Given the description of an element on the screen output the (x, y) to click on. 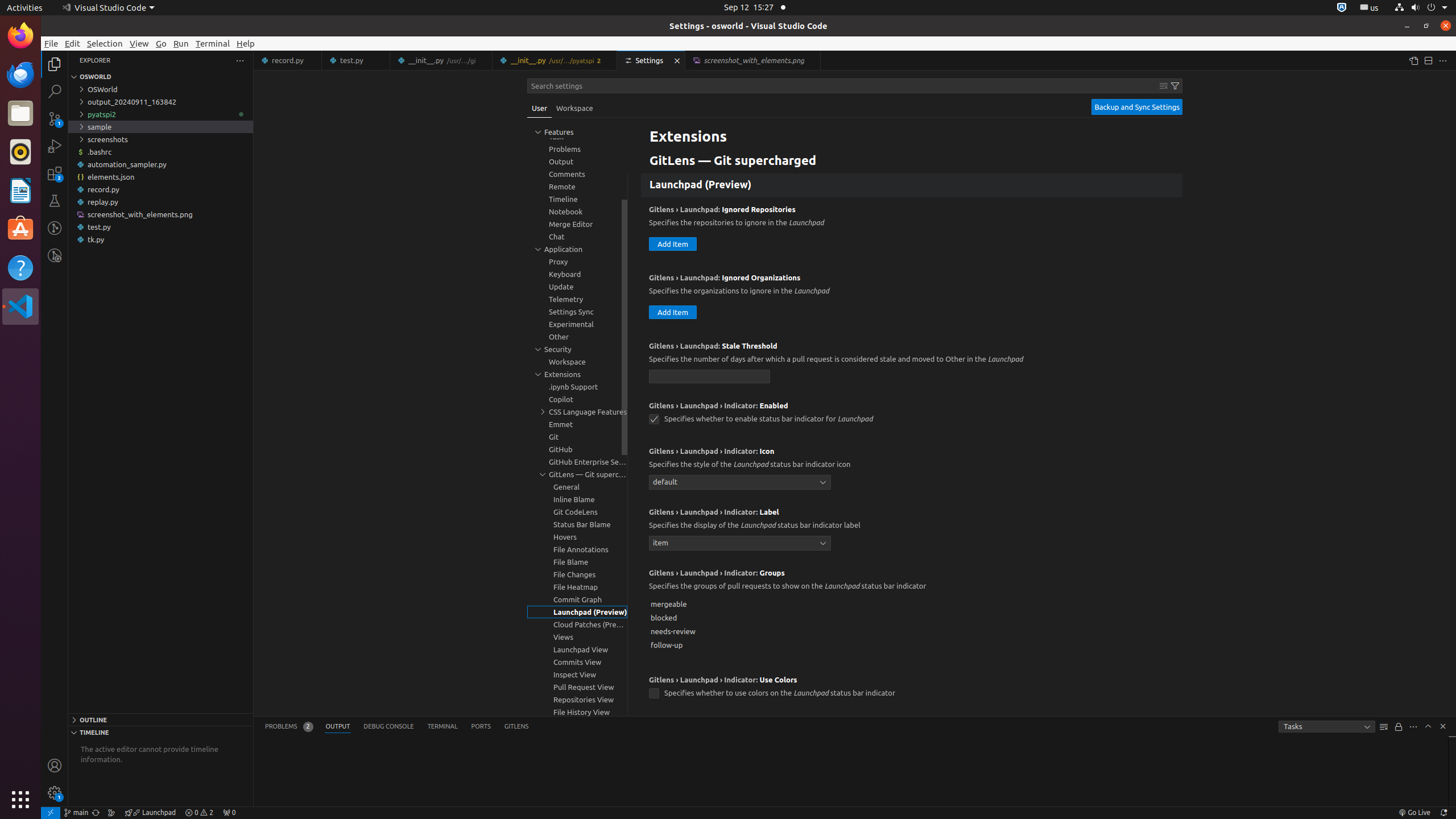
Close (Ctrl+W) Element type: push-button (812, 60)
Gitlens › Launchpad › Indicator › Polling Enabled. Specifies whether the status bar indicator will fetch and display pull request data for Launchpad  Element type: tree-item (911, 735)
Extensions (Ctrl+Shift+X) - 2 require restart Extensions (Ctrl+Shift+X) - 2 require restart Element type: page-tab (54, 173)
More Actions... Element type: push-button (1442, 60)
